Given the description of an element on the screen output the (x, y) to click on. 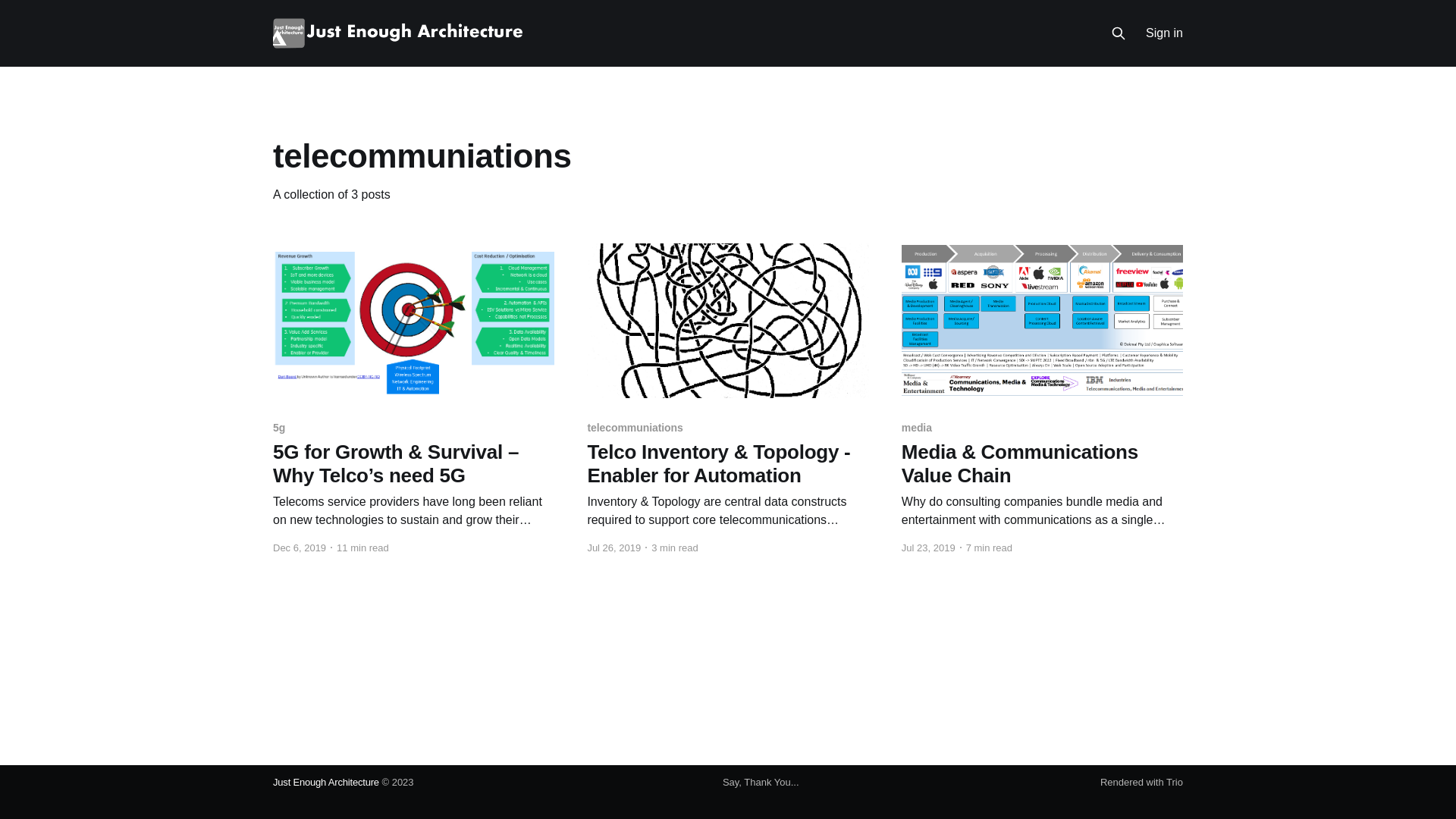
Say, Thank You... Element type: text (760, 782)
Just Enough Architecture Element type: text (326, 781)
Rendered with Trio Element type: text (1141, 781)
Sign in Element type: text (1164, 33)
